Given the description of an element on the screen output the (x, y) to click on. 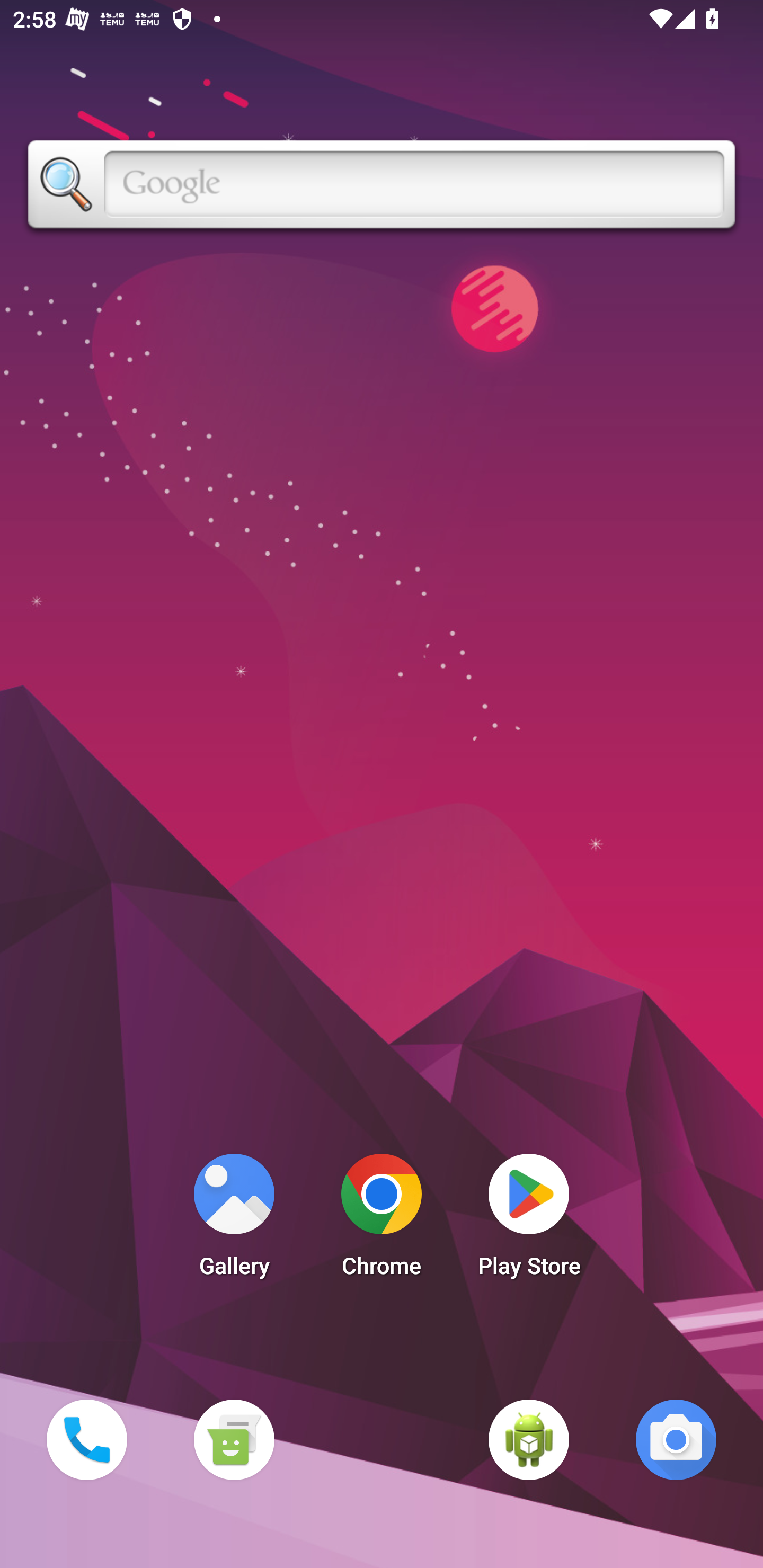
Gallery (233, 1220)
Chrome (381, 1220)
Play Store (528, 1220)
Phone (86, 1439)
Messaging (233, 1439)
WebView Browser Tester (528, 1439)
Camera (676, 1439)
